Given the description of an element on the screen output the (x, y) to click on. 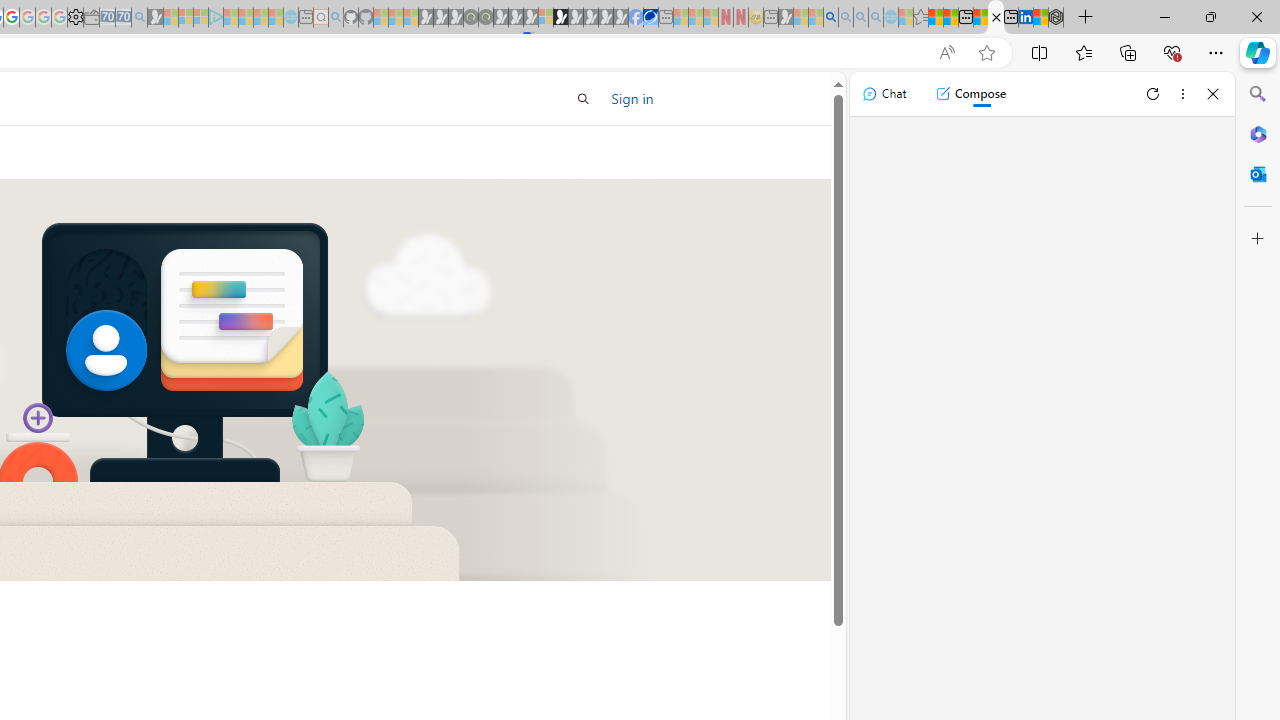
Close Outlook pane (1258, 174)
Microsoft Start Gaming - Sleeping (155, 17)
Training for Administrators | Microsoft Learn (996, 17)
Close Customize pane (1258, 239)
Nordace - Summer Adventures 2024 (1055, 17)
Home | Sky Blue Bikes - Sky Blue Bikes - Sleeping (291, 17)
Compose (970, 93)
